Given the description of an element on the screen output the (x, y) to click on. 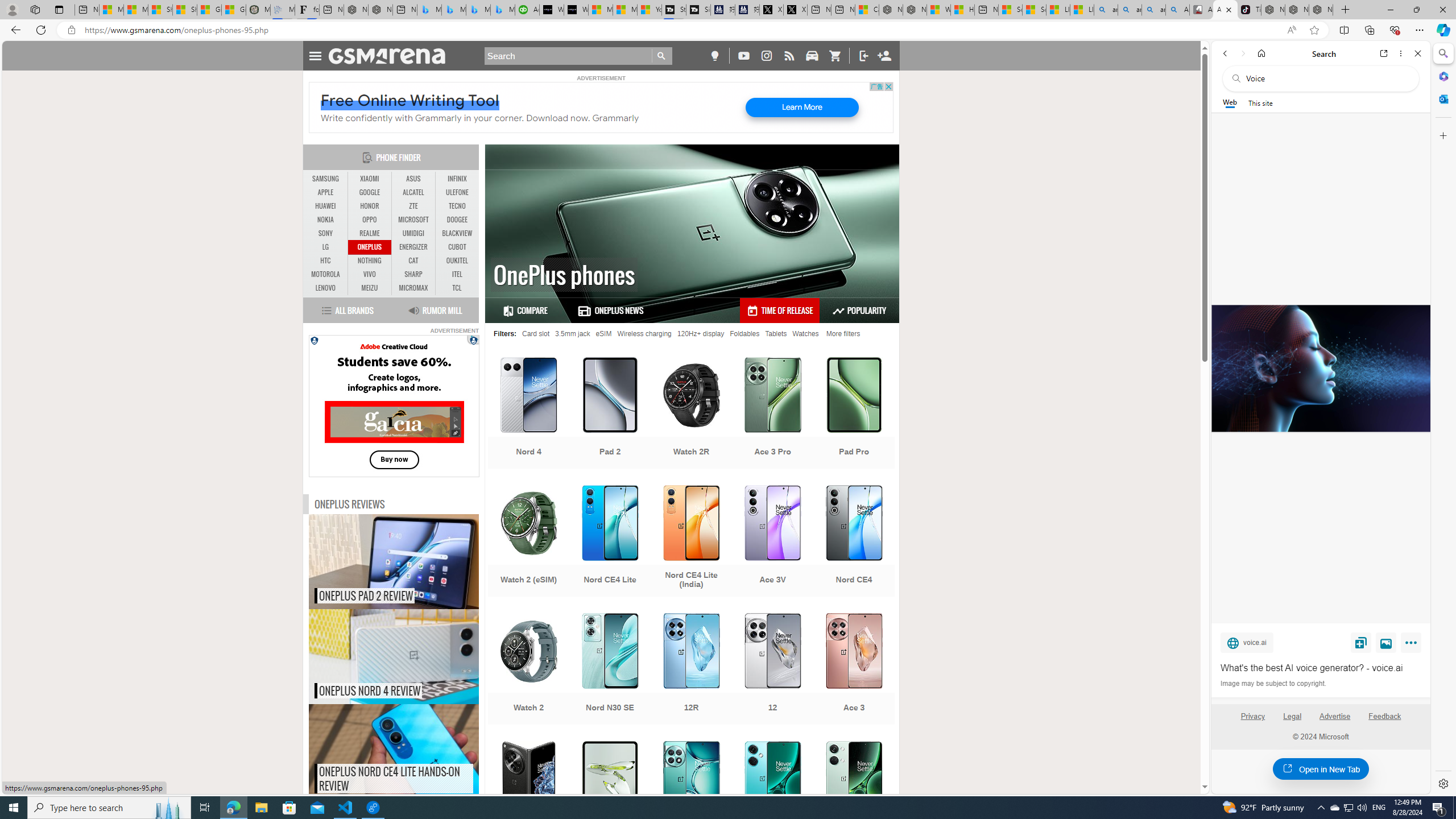
OUKITEL (457, 260)
Privacy Notification (314, 340)
OnePlus Pad 2 review (417, 561)
